Given the description of an element on the screen output the (x, y) to click on. 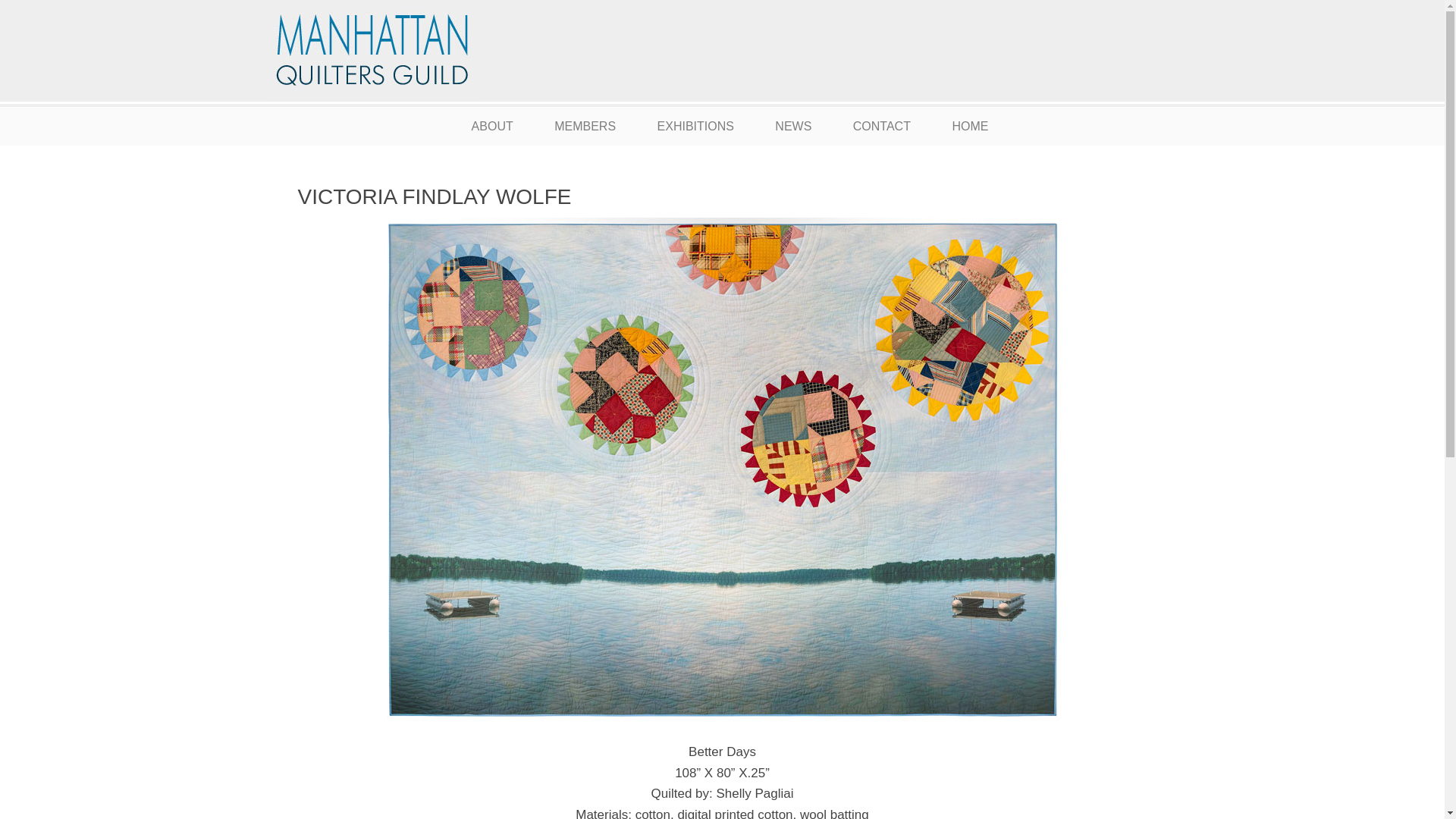
CONTACT (881, 126)
Manhattan Quilters Guild (418, 53)
NEWS (792, 126)
EXHIBITIONS (695, 126)
HOME (969, 126)
MEMBERS (585, 126)
ABOUT (492, 126)
